Given the description of an element on the screen output the (x, y) to click on. 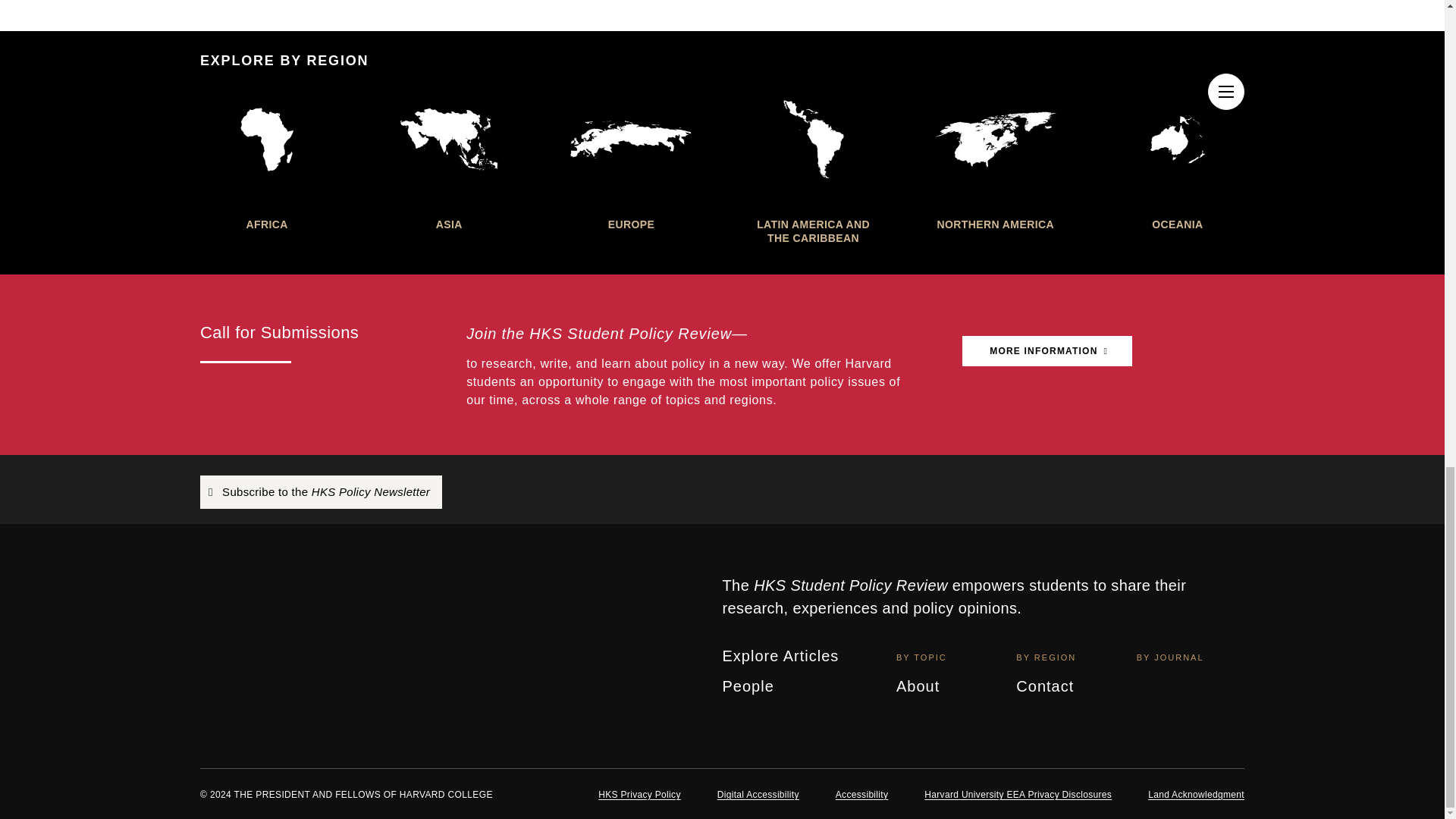
ASIA (448, 159)
NORTHERN AMERICA (995, 159)
MORE INFORMATION (1047, 350)
EUROPE (630, 159)
AFRICA (266, 159)
OCEANIA (1177, 159)
See articles from Africa (266, 159)
LATIN AMERICA AND THE CARIBBEAN (812, 167)
